Given the description of an element on the screen output the (x, y) to click on. 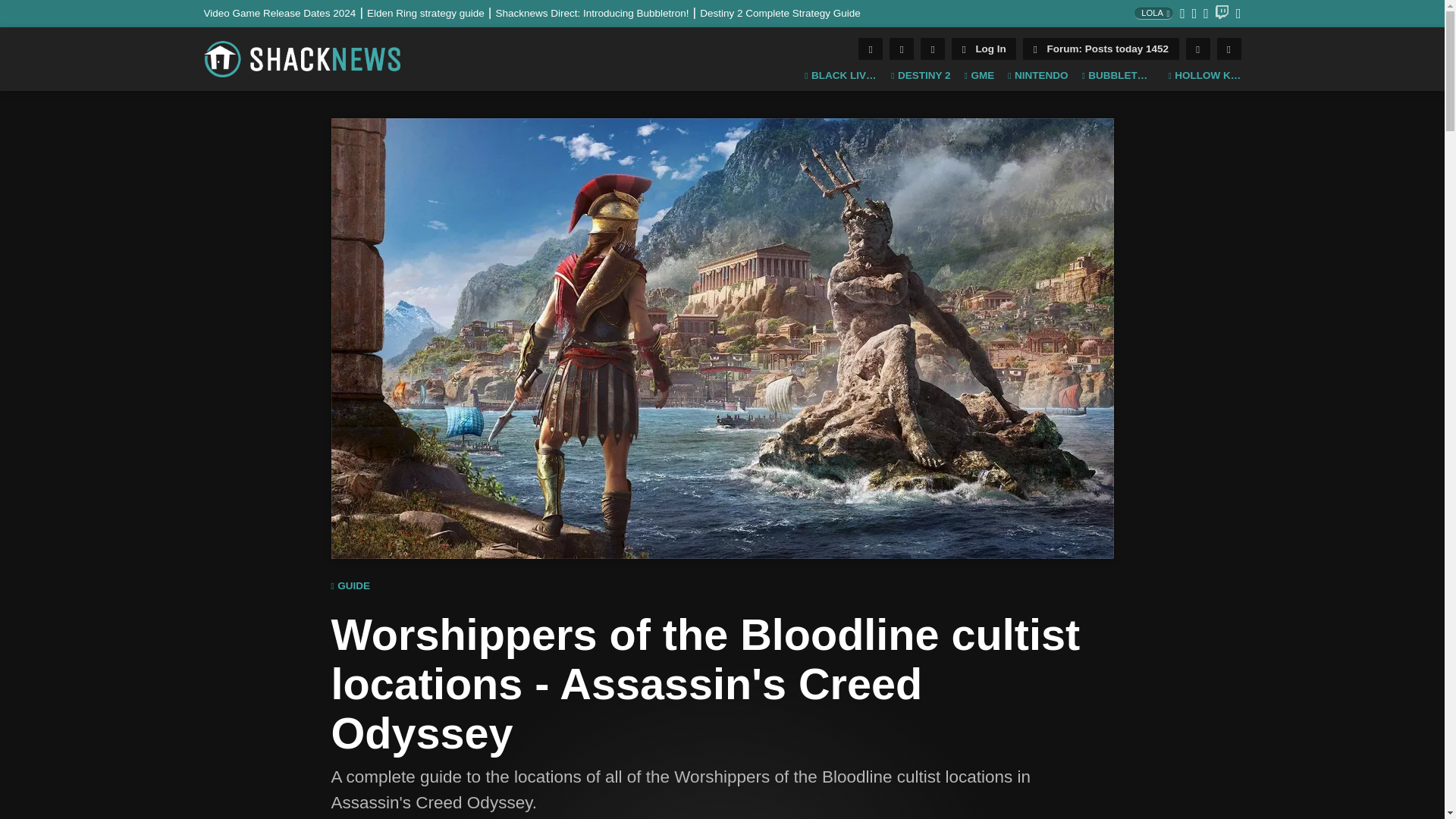
HOLLOW KNIGHT: SILKSONG (1203, 75)
Shacknews Direct: Introducing Bubbletron! (597, 11)
GUIDE (349, 586)
BUBBLETRON (1117, 75)
BLACK LIVES MATTER (841, 75)
DESTINY 2 (920, 75)
NINTENDO (1037, 75)
GME (978, 75)
Elden Ring strategy guide (430, 11)
Destiny 2 Complete Strategy Guide (780, 11)
Video Game Release Dates 2024 (284, 11)
